Given the description of an element on the screen output the (x, y) to click on. 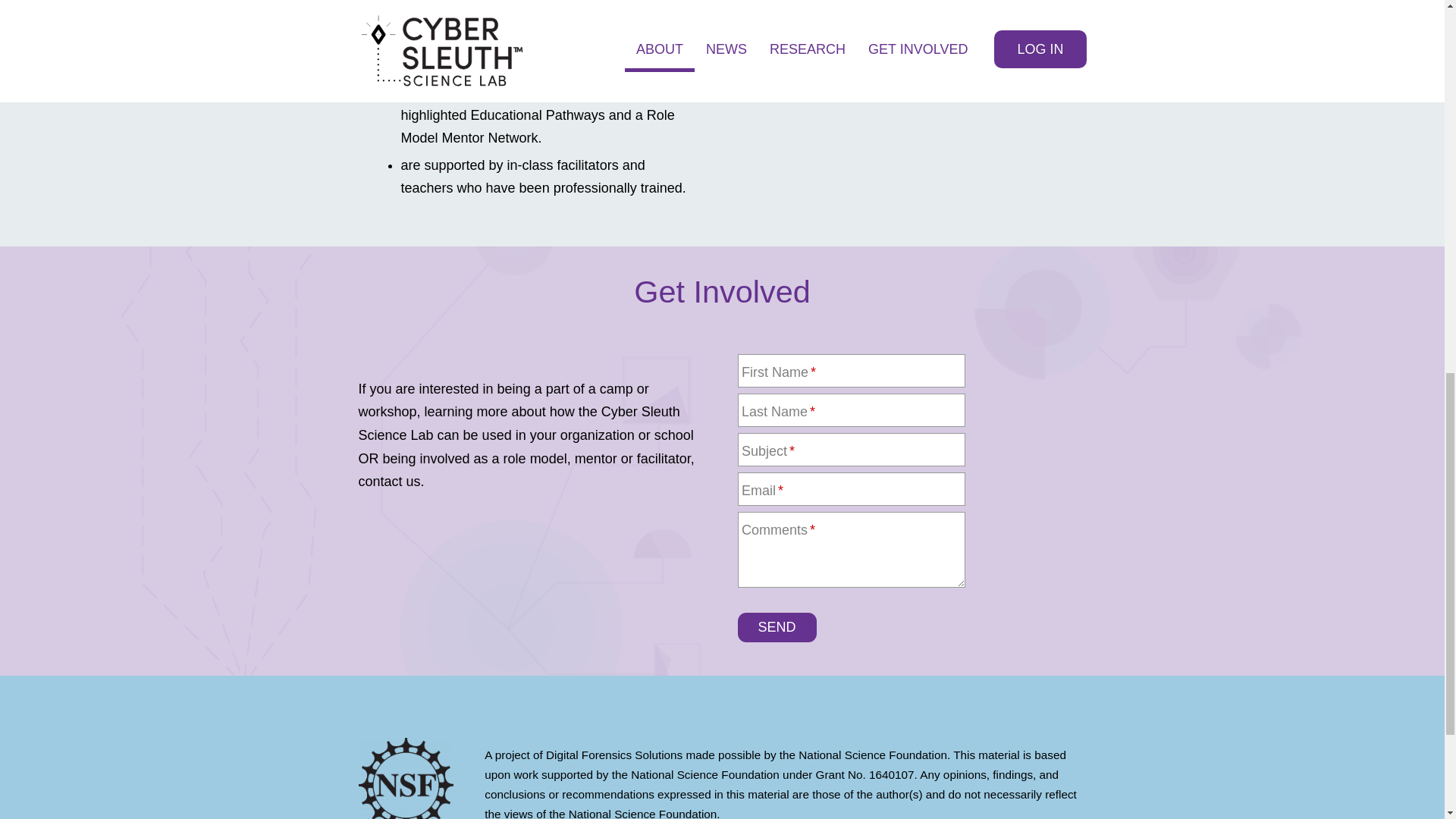
Email (849, 489)
First Name (849, 370)
Send (775, 627)
Subject (849, 449)
Comments (849, 549)
Last Name (849, 409)
Send (775, 627)
